Given the description of an element on the screen output the (x, y) to click on. 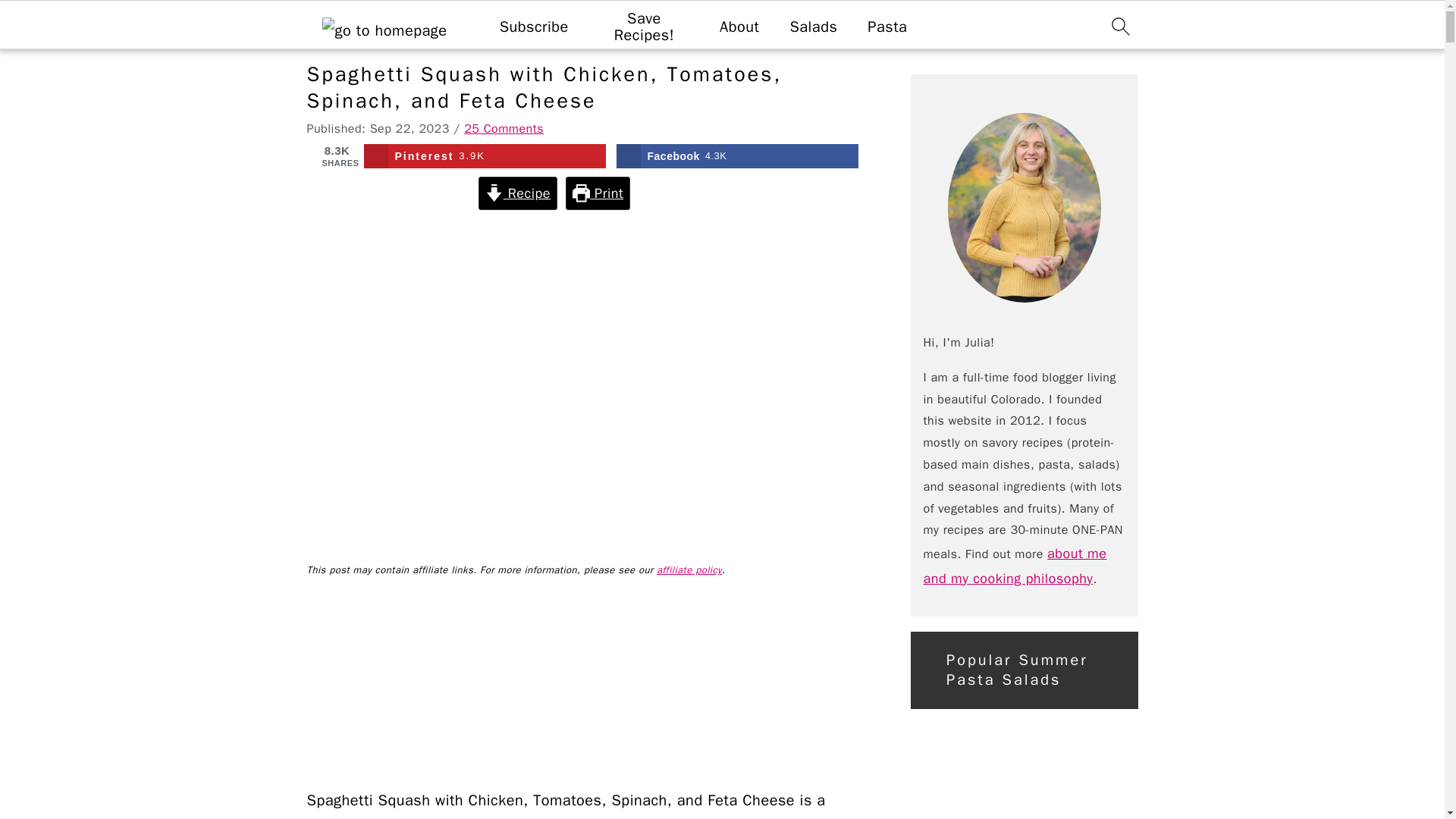
About (738, 27)
Recipe (517, 192)
Print (598, 192)
Salads (813, 27)
Share on Facebook (737, 156)
Pasta (485, 156)
Save Recipes! (737, 156)
